Given the description of an element on the screen output the (x, y) to click on. 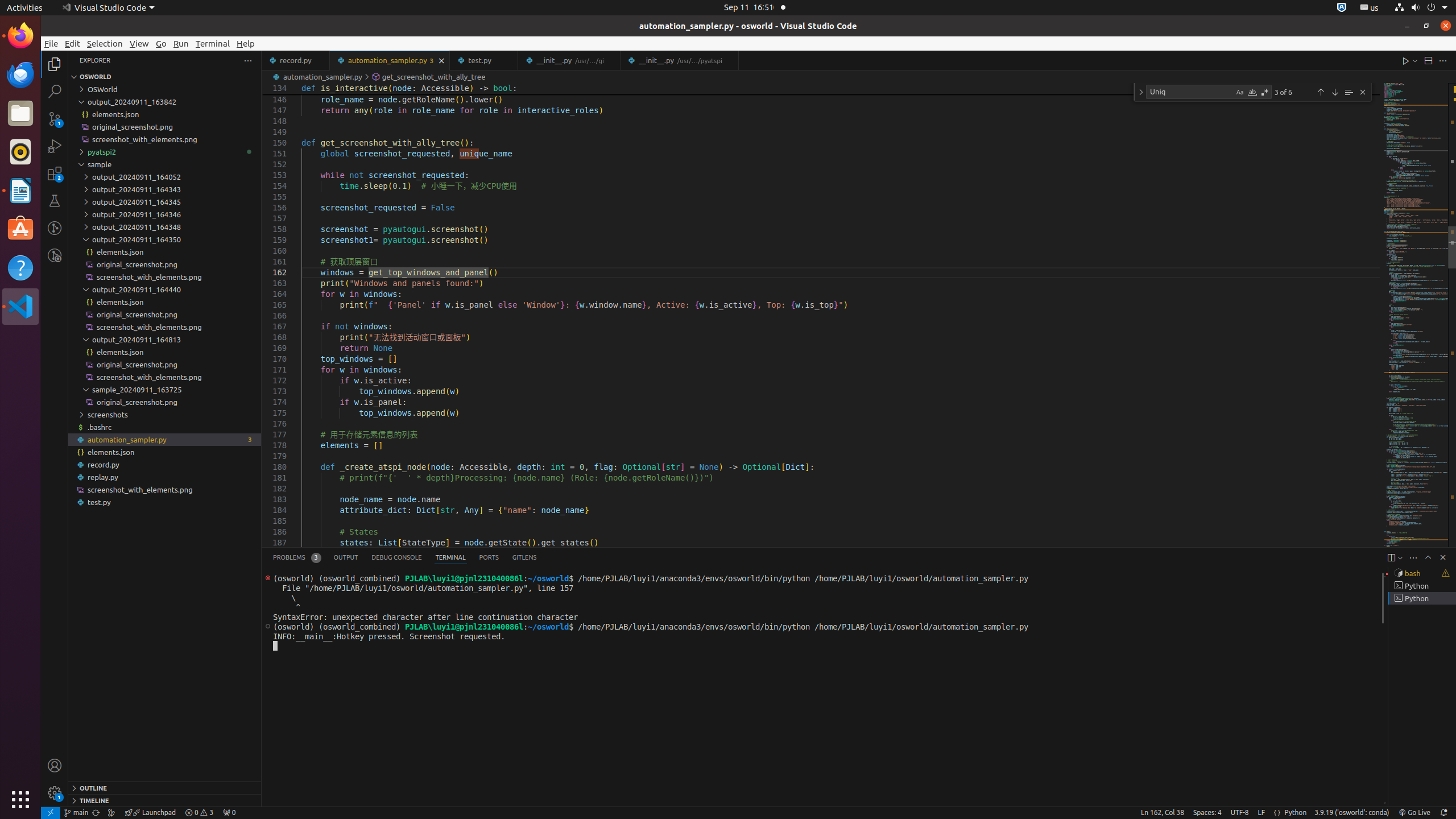
Find in Selection (Alt+L) Element type: check-box (1348, 91)
Run and Debug (Ctrl+Shift+D) Element type: page-tab (54, 145)
test.py Element type: page-tab (483, 60)
Python Element type: push-button (1295, 812)
Launch Profile... Element type: push-button (1399, 557)
